Given the description of an element on the screen output the (x, y) to click on. 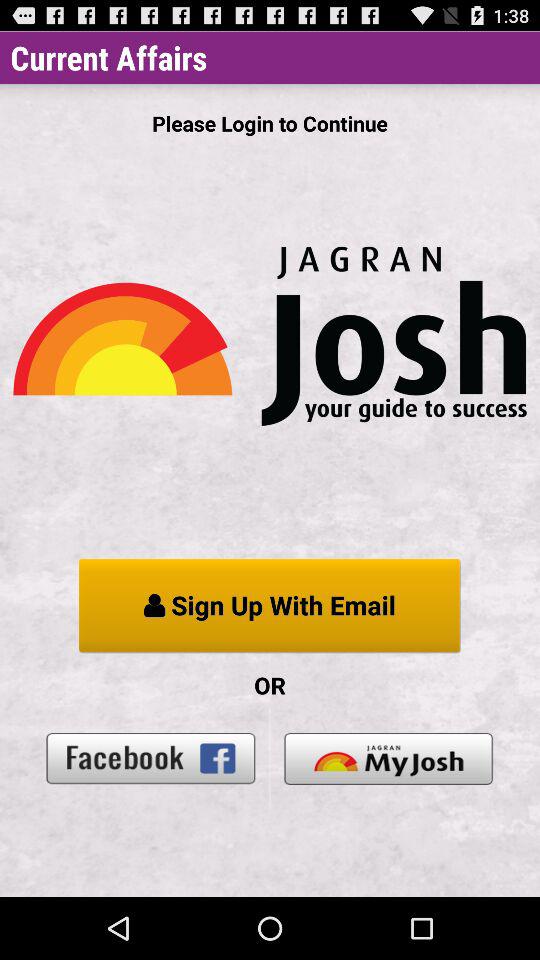
select the facebook bar (151, 758)
